Given the description of an element on the screen output the (x, y) to click on. 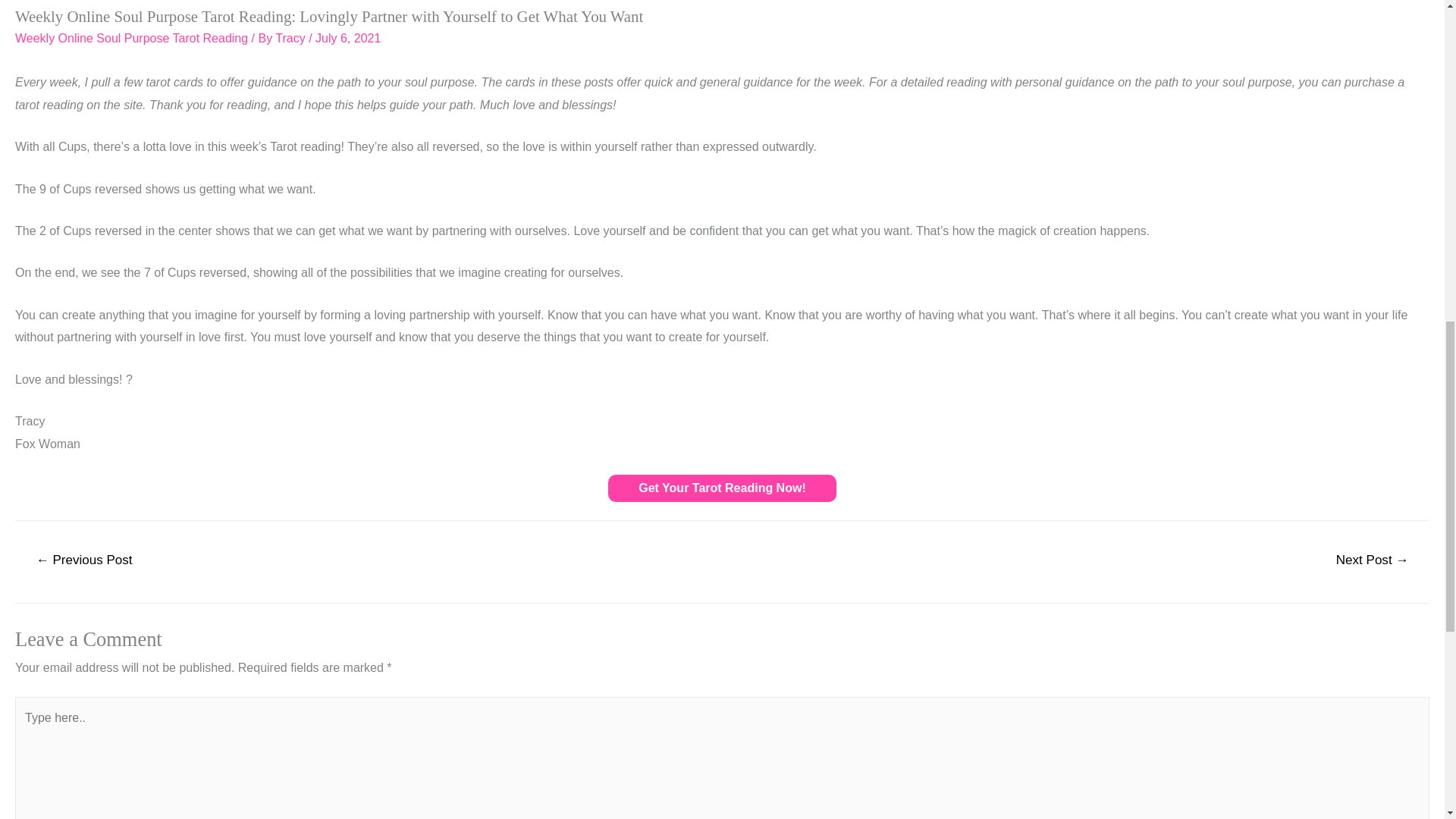
View all posts by Tracy (291, 38)
Tracy (291, 38)
Weekly Online Soul Purpose Tarot Reading (130, 38)
Get Your Tarot Reading Now! (721, 488)
